Given the description of an element on the screen output the (x, y) to click on. 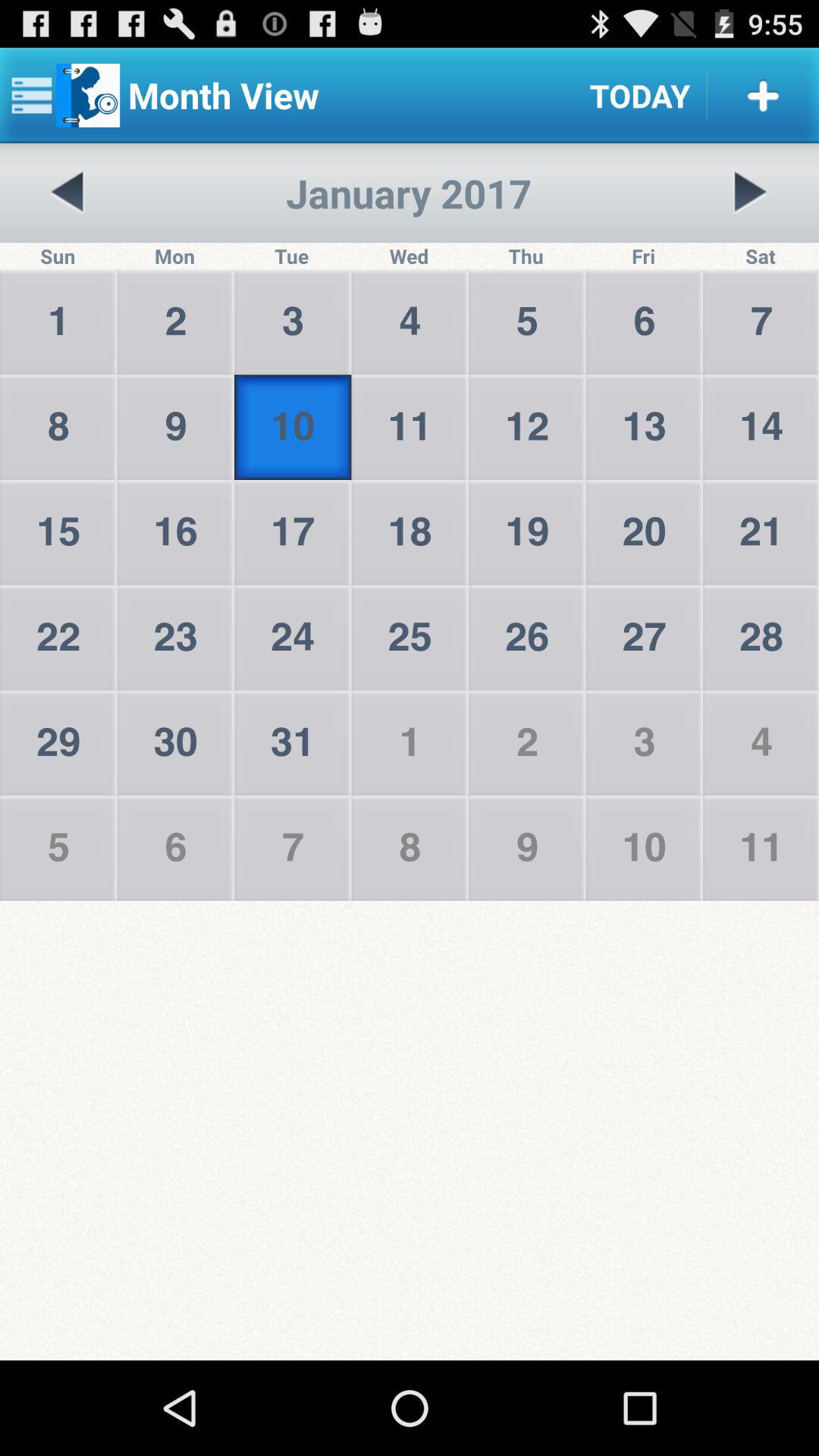
next month (750, 192)
